Given the description of an element on the screen output the (x, y) to click on. 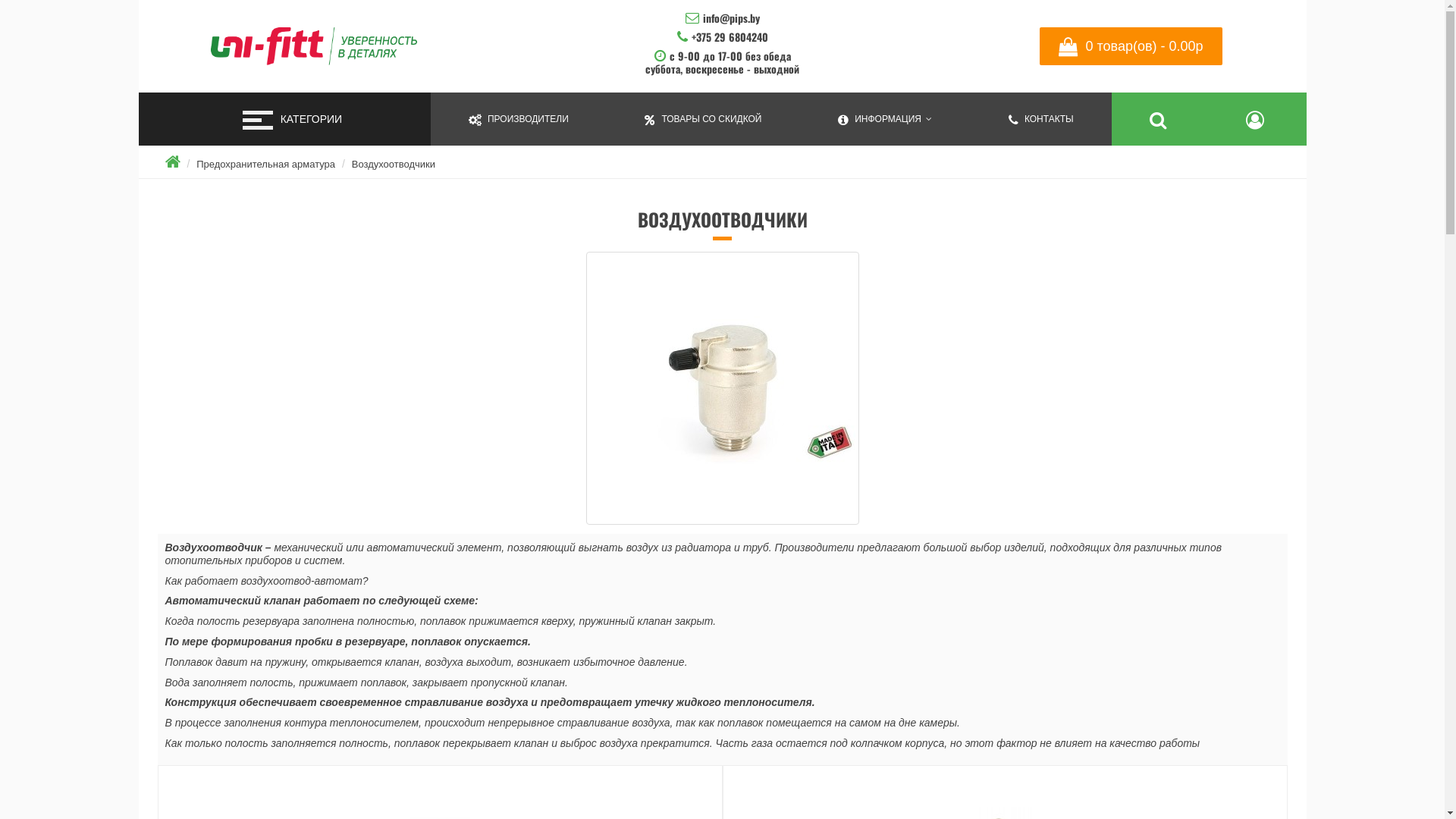
uni-fitt.by Element type: hover (313, 45)
